Given the description of an element on the screen output the (x, y) to click on. 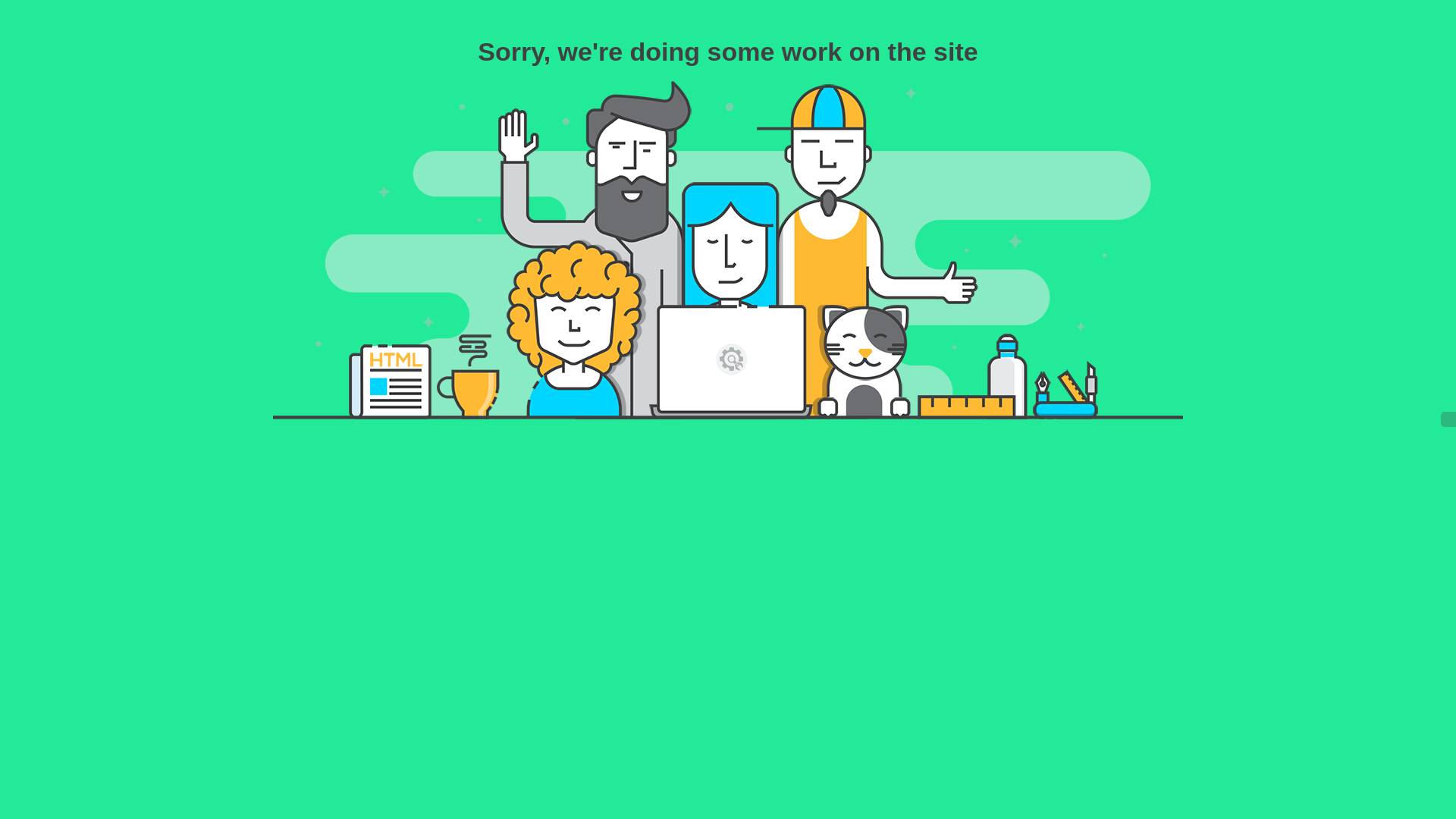
Our Best People at Work Element type: hover (728, 250)
